Given the description of an element on the screen output the (x, y) to click on. 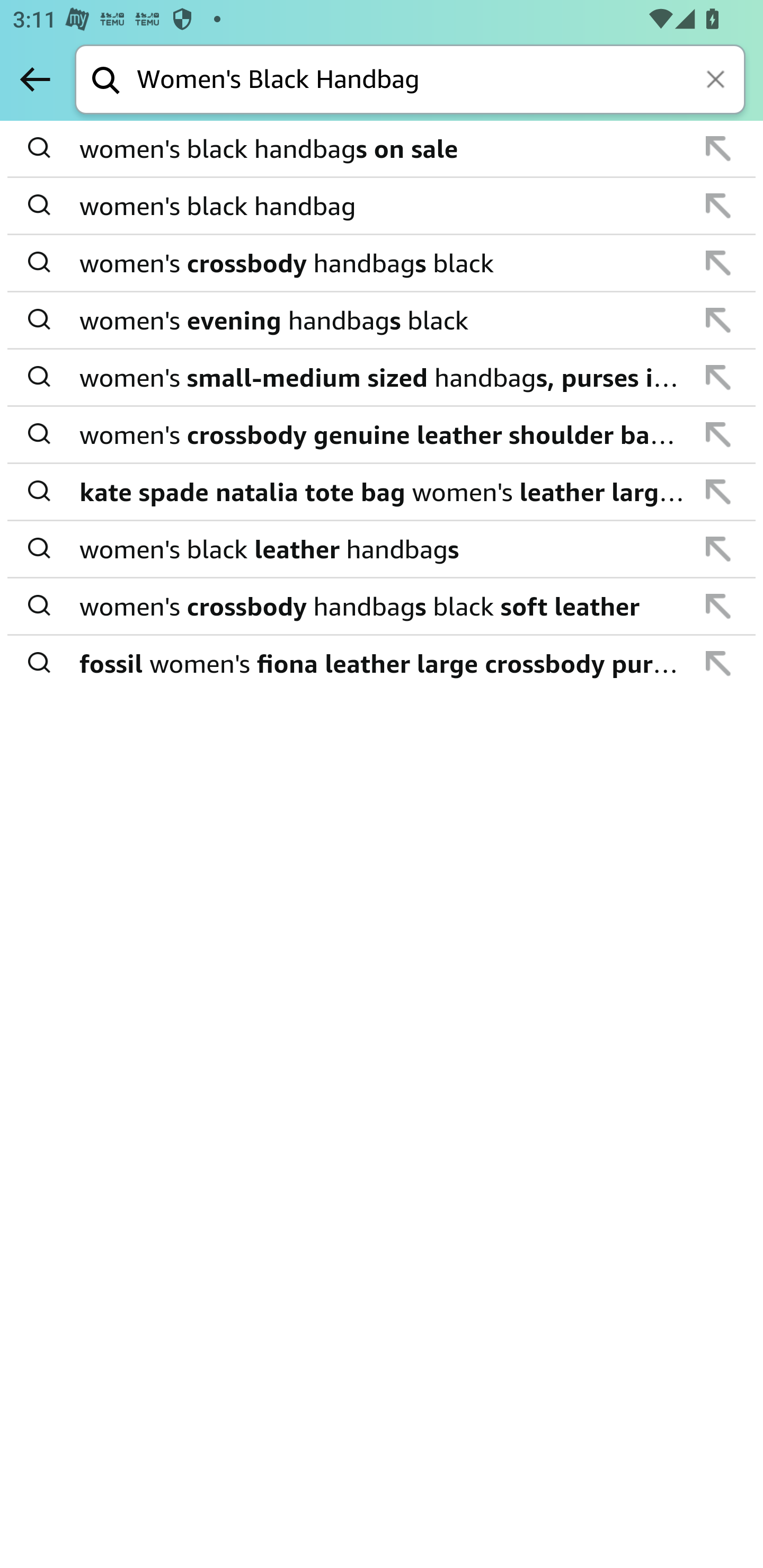
Women's Black Handbag (440, 80)
Clear search keywords (717, 80)
Back (35, 78)
append suggestion women's black handbags on sale (381, 149)
women's black handbags on sale (382, 149)
append suggestion (718, 147)
women's black handbag (382, 205)
append suggestion women's black handbag (381, 206)
append suggestion (718, 205)
women's crossbody handbags black (382, 262)
append suggestion women's crossbody handbags black (381, 263)
append suggestion (718, 262)
women's evening handbags black (382, 319)
append suggestion women's evening handbags black (381, 320)
append suggestion (718, 319)
append suggestion (718, 376)
append suggestion (718, 434)
append suggestion (718, 491)
women's black leather handbags (382, 548)
append suggestion women's black leather handbags (381, 549)
append suggestion (718, 548)
women's crossbody handbags black soft leather (382, 606)
append suggestion (718, 605)
append suggestion (718, 663)
